Given the description of an element on the screen output the (x, y) to click on. 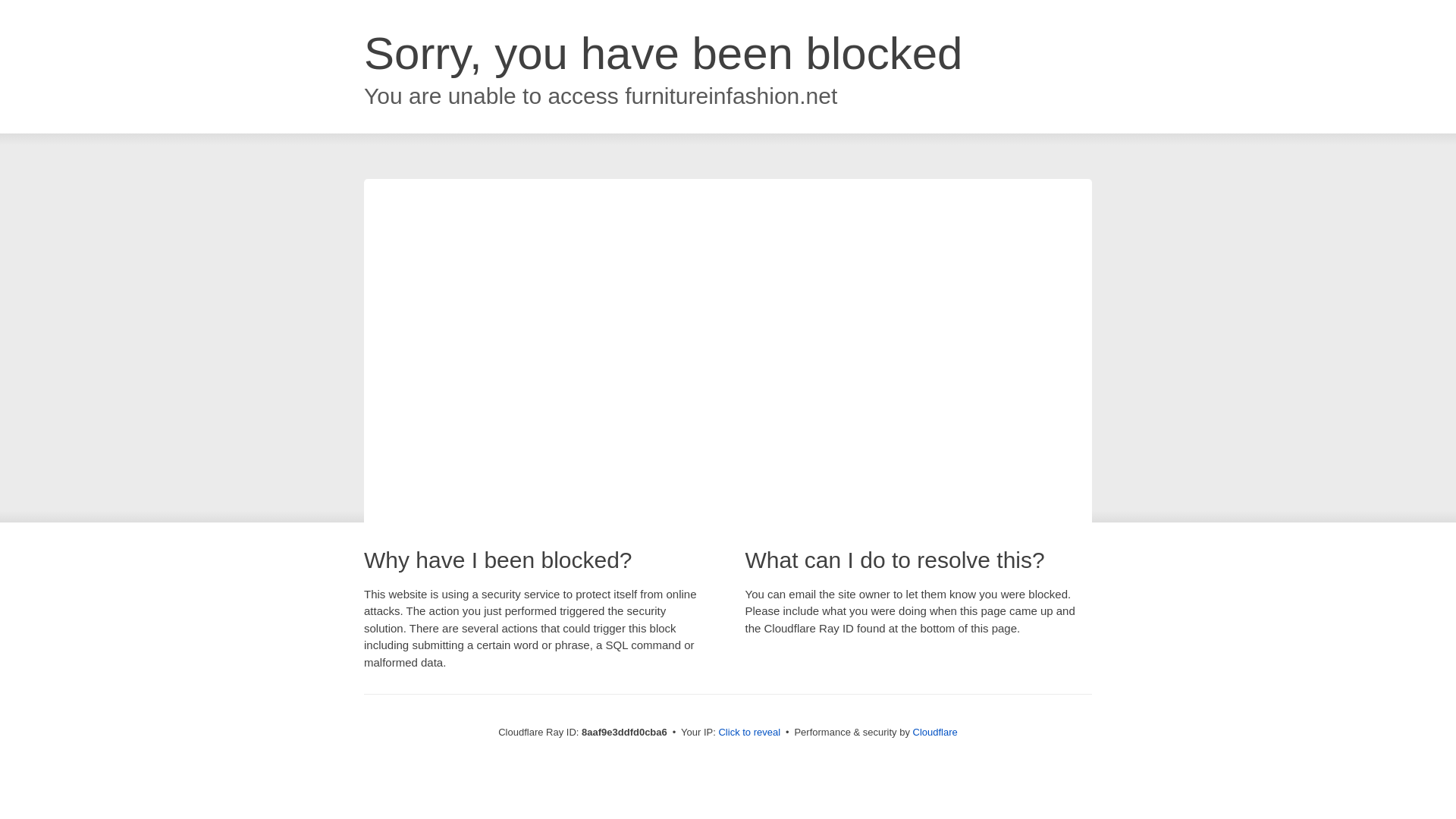
Cloudflare (935, 731)
Click to reveal (748, 732)
